Given the description of an element on the screen output the (x, y) to click on. 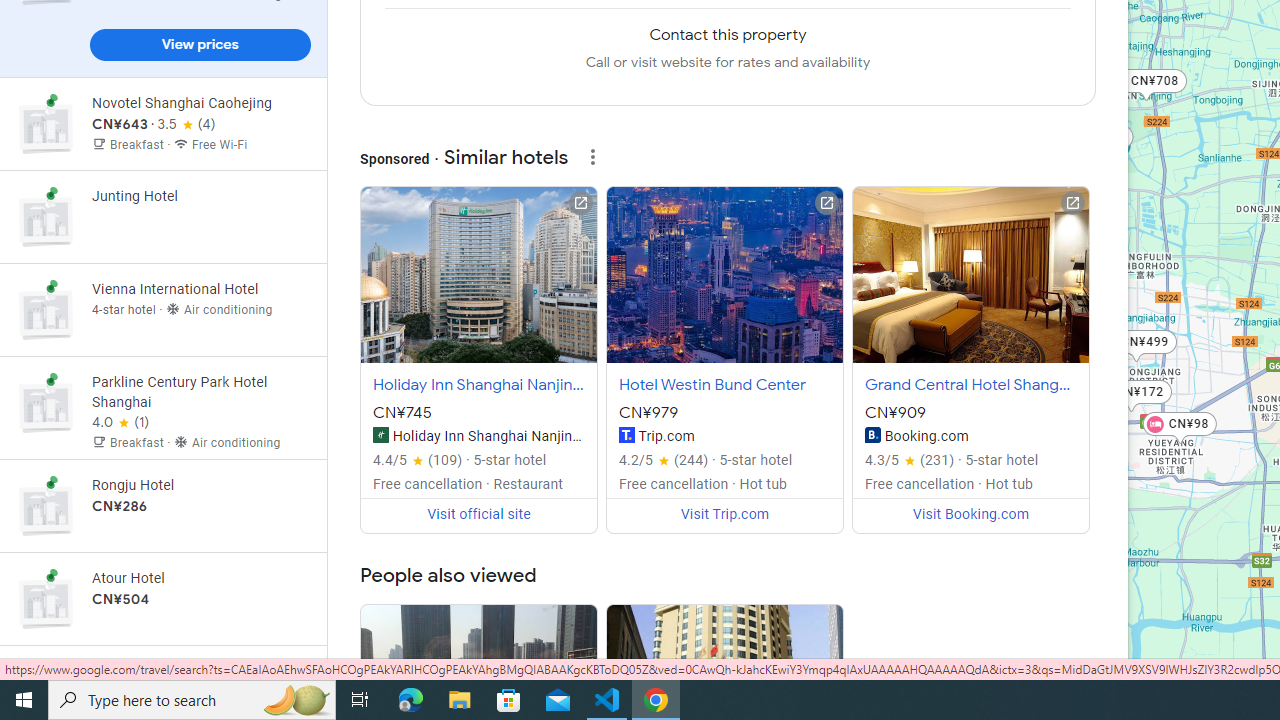
View prices for Novotel Shanghai Caohejing (200, 193)
